Given the description of an element on the screen output the (x, y) to click on. 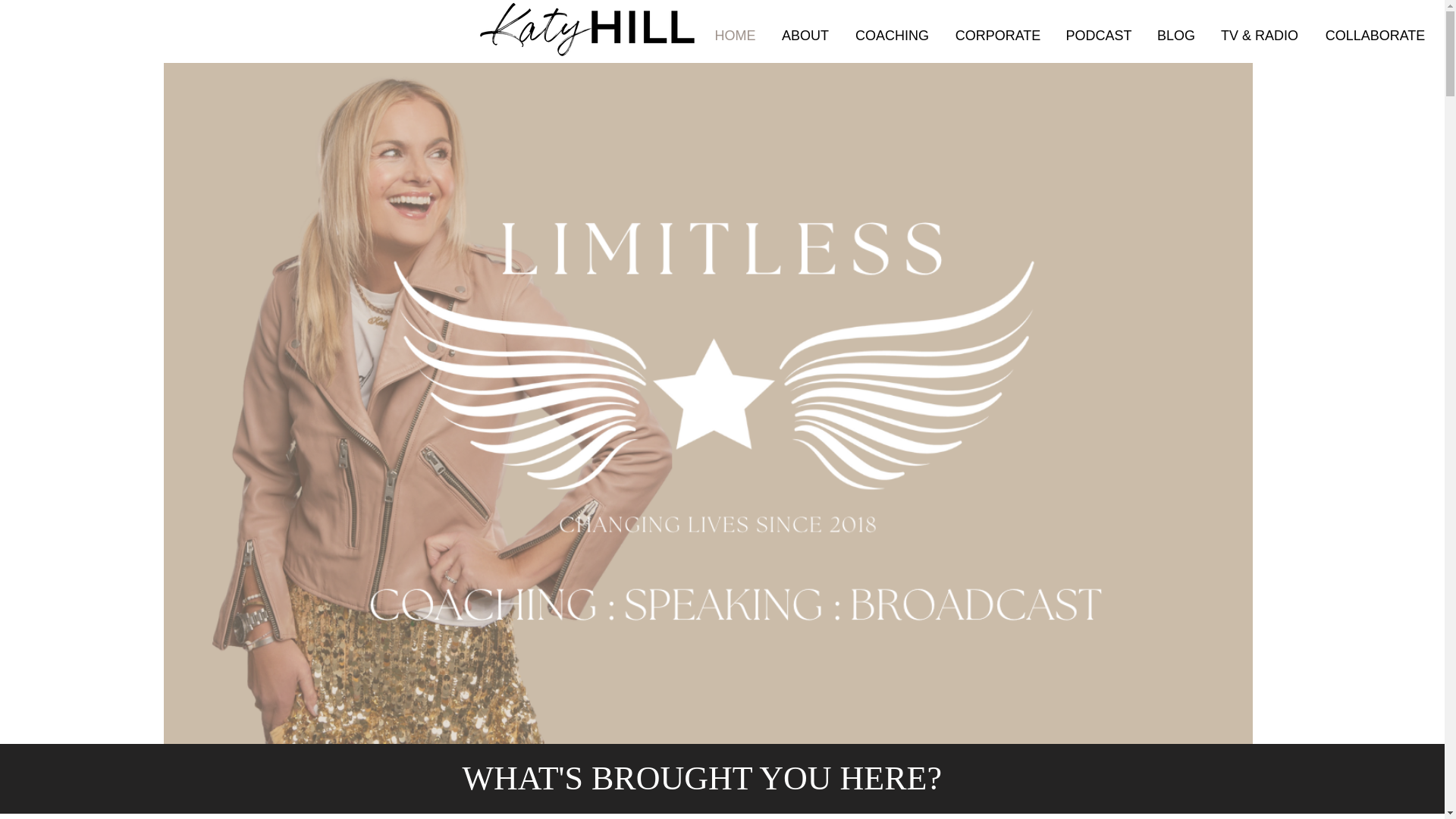
ABOUT (804, 35)
COLLABORATE (1375, 35)
COACHING (891, 35)
BLOG (1176, 35)
PODCAST (1098, 35)
CORPORATE (997, 35)
HOME (734, 35)
